Given the description of an element on the screen output the (x, y) to click on. 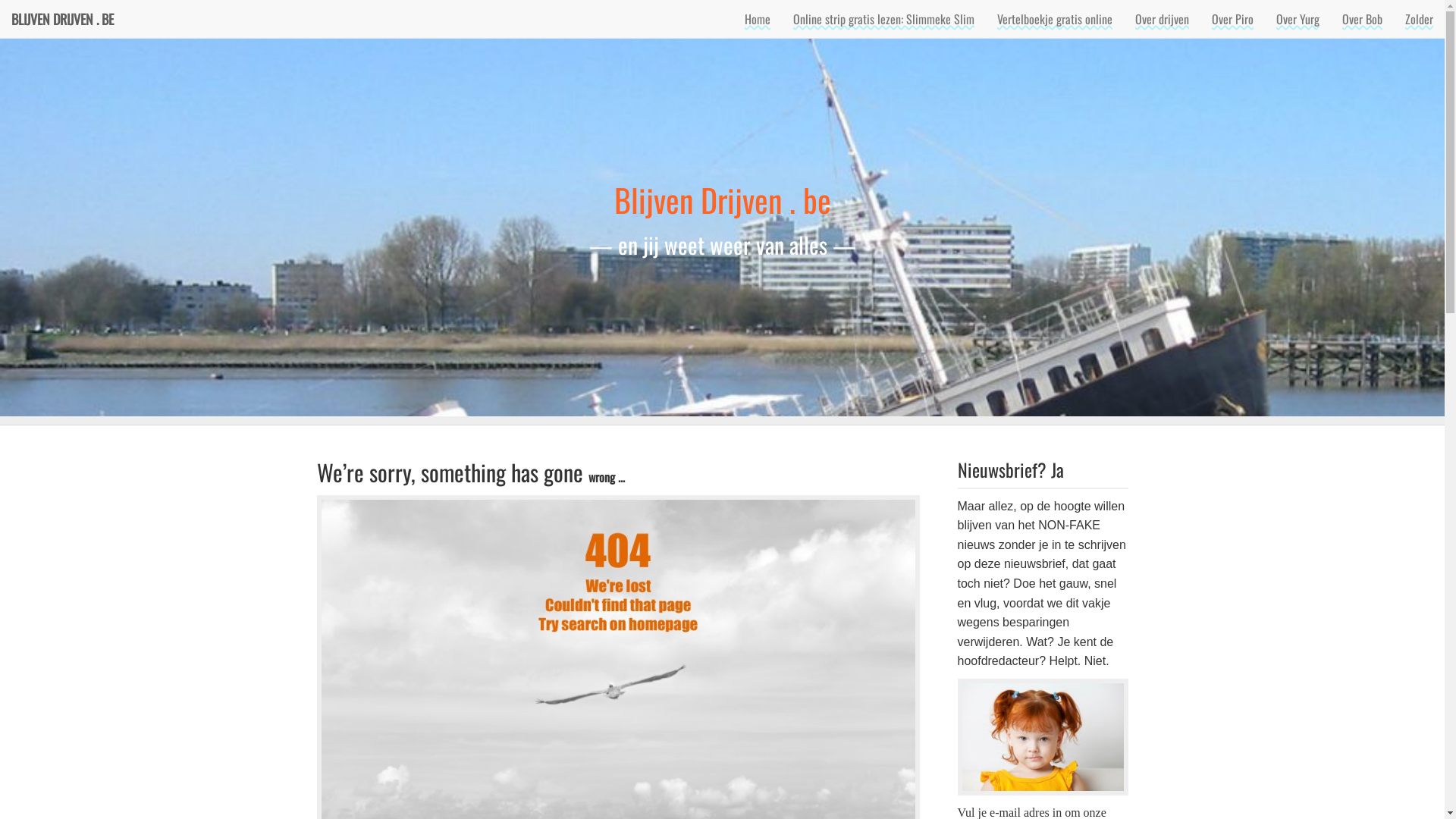
Over drijven Element type: text (1161, 18)
Online strip gratis lezen: Slimmeke Slim Element type: text (883, 18)
Over Bob Element type: text (1361, 18)
BLIJVEN DRIJVEN . BE Element type: text (62, 18)
Home Element type: text (757, 18)
Zolder Element type: text (1418, 18)
Over Piro Element type: text (1232, 18)
Vertelboekje gratis online Element type: text (1054, 18)
Over Yurg Element type: text (1297, 18)
